Given the description of an element on the screen output the (x, y) to click on. 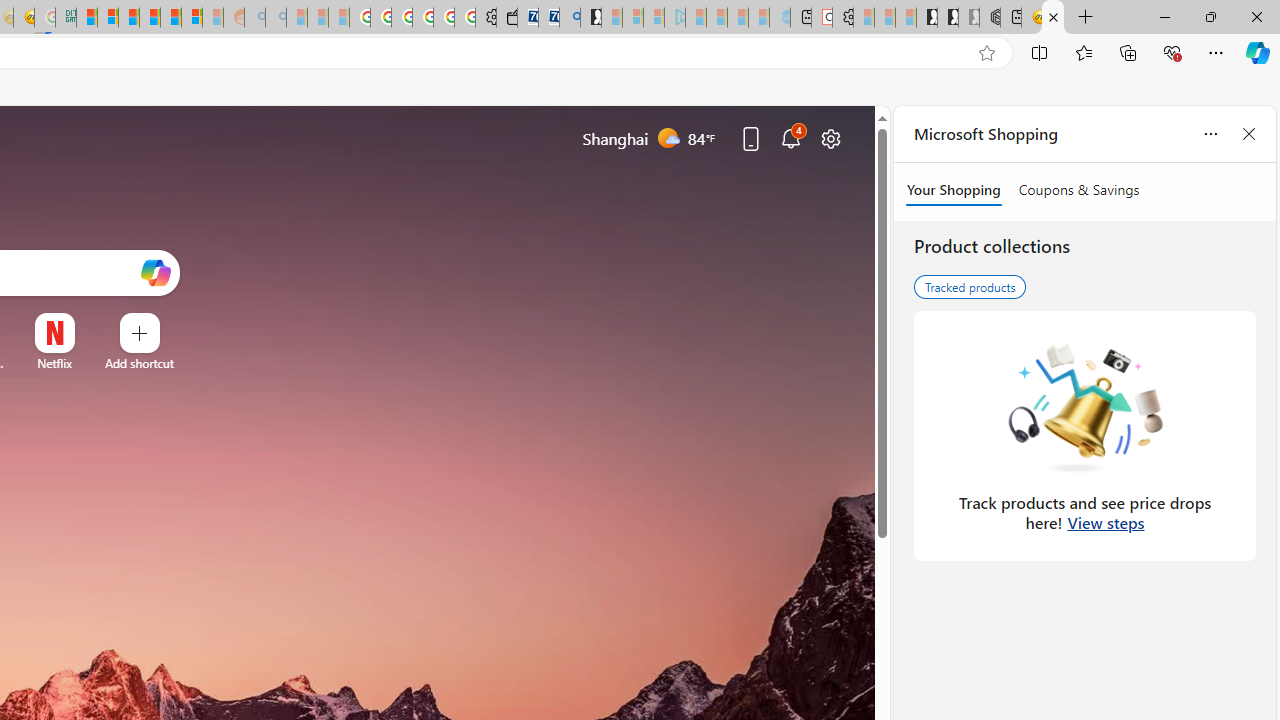
Add a site (139, 363)
Mostly sunny (667, 137)
